Given the description of an element on the screen output the (x, y) to click on. 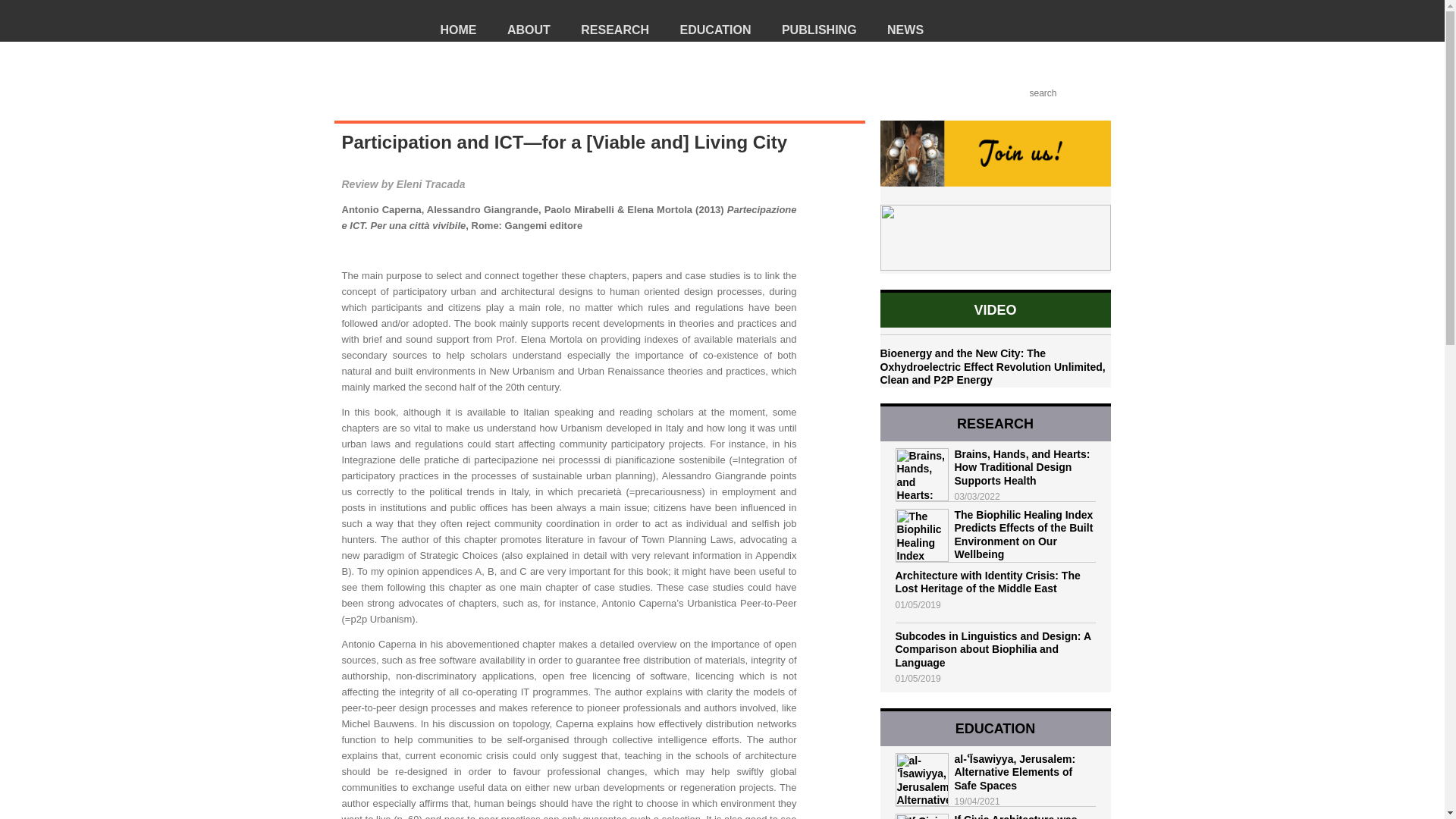
LinkedIn profile (1014, 93)
EDUCATION (726, 20)
biourbanism.org (372, 40)
Make friends with us on Facebook (994, 93)
RSS Feed (953, 93)
